Given the description of an element on the screen output the (x, y) to click on. 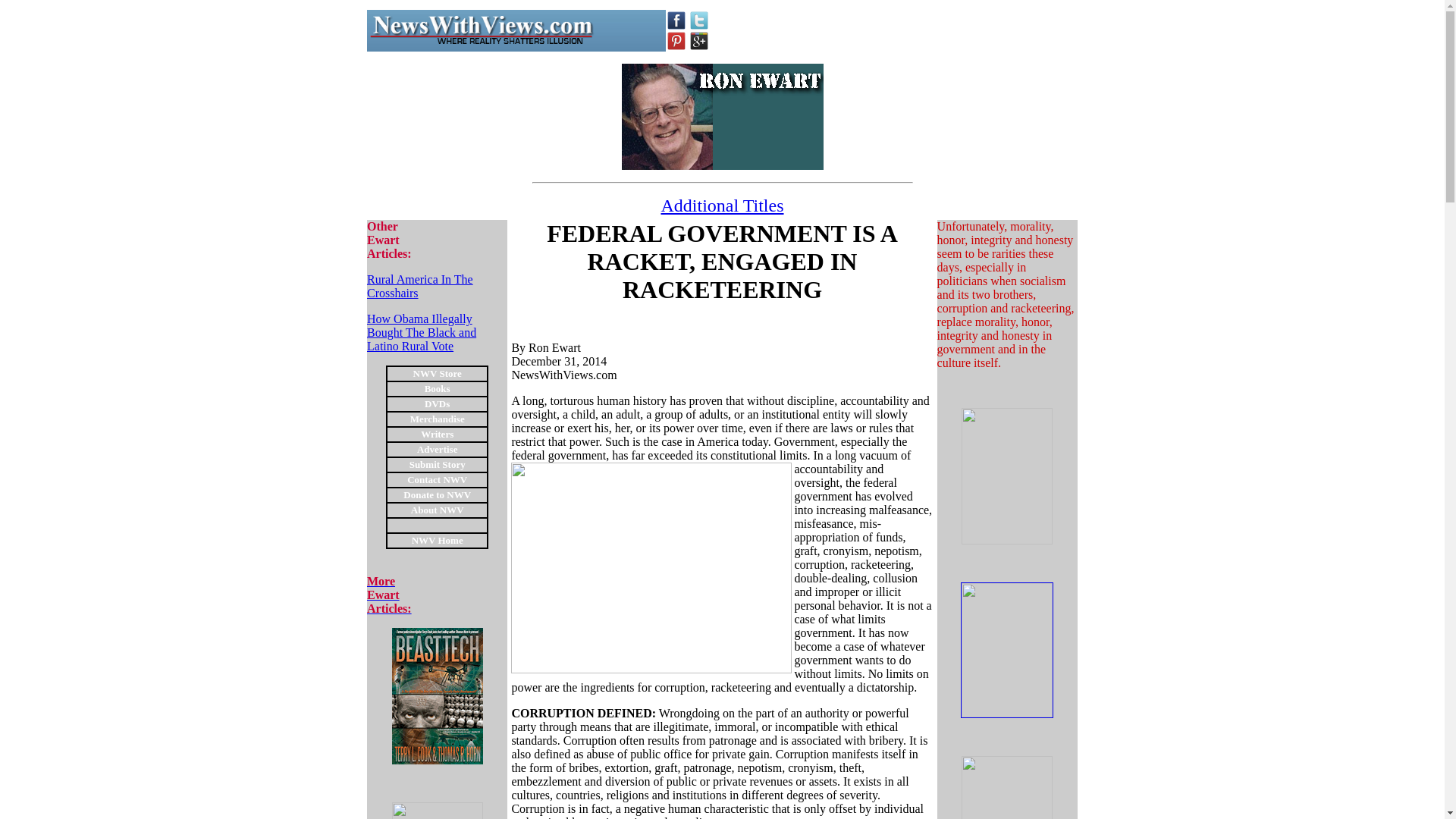
NewsWithViews on Twitter (698, 20)
NWV Store (437, 372)
Rural America In The Crosshairs (419, 285)
Donate to NWV (436, 493)
NewsWithViews on Pinterest (675, 40)
How Obama Illegally Bought The Black and Latino Rural Vote (421, 332)
Contact NWV (437, 478)
DVDs (437, 402)
NewsWithViews.com (389, 594)
Additional Titles (480, 30)
Submit Story (722, 205)
NWV Home (437, 463)
Books (437, 539)
Writers (437, 387)
